Given the description of an element on the screen output the (x, y) to click on. 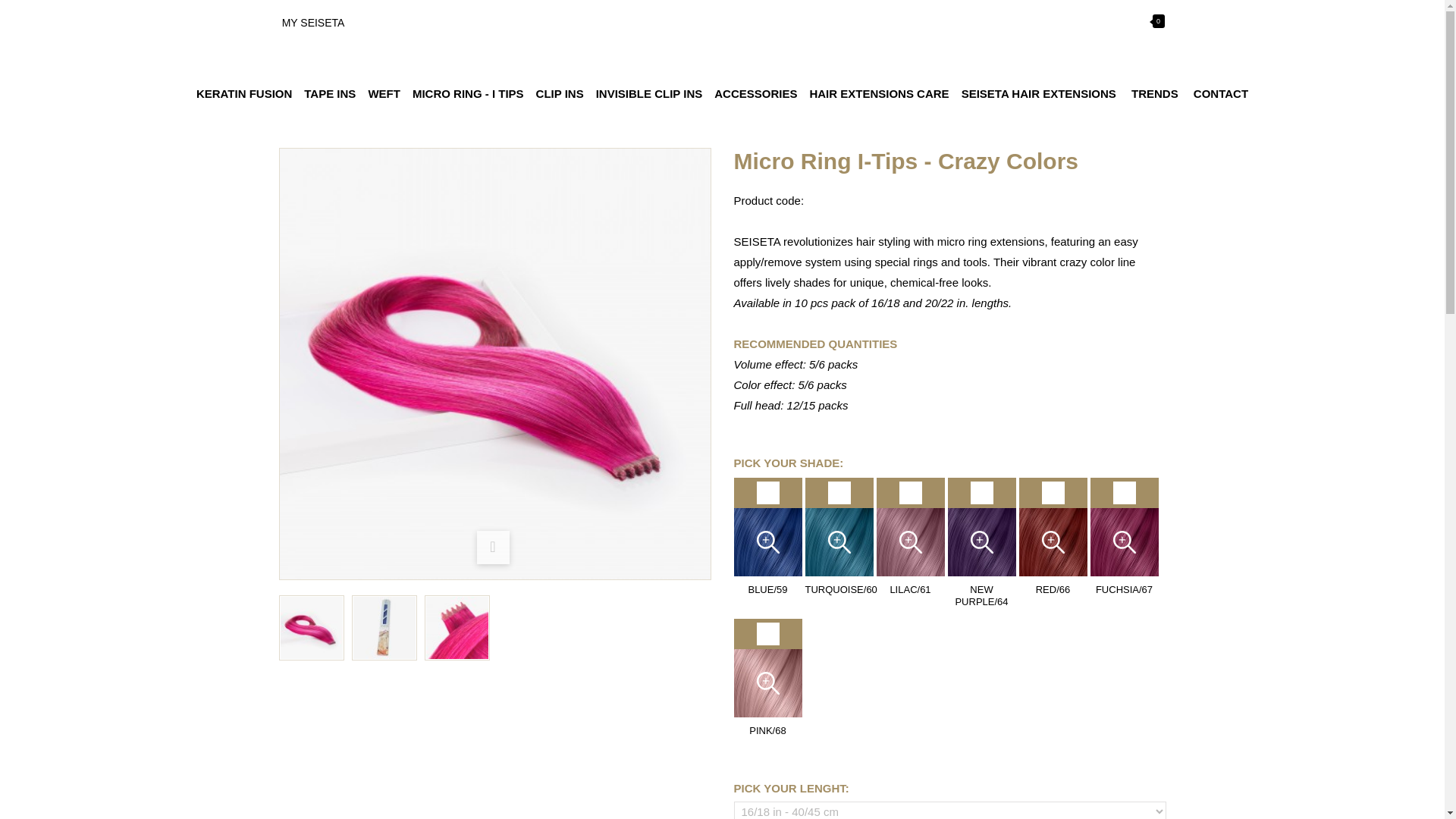
Flat Ring-On - Crazy Colors - Fuchsia (310, 628)
Log in to your customer account (313, 22)
Micro ring i-tips - Crazy Colors (384, 627)
MICRO RING - I TIPS (467, 93)
Flat Ring-On - Crazy Colors - Fuchsia (311, 627)
0 (1138, 20)
TRENDS (1155, 93)
KERATIN FUSION (244, 93)
INVISIBLE CLIP INS (649, 93)
TAPE INS (329, 93)
MY SEISETA (313, 22)
CLIP INS (559, 93)
Micro ring i-tips - Crazy Colors (383, 628)
Seiseta (721, 37)
SEISETA HAIR EXTENSIONS (1038, 93)
